Given the description of an element on the screen output the (x, y) to click on. 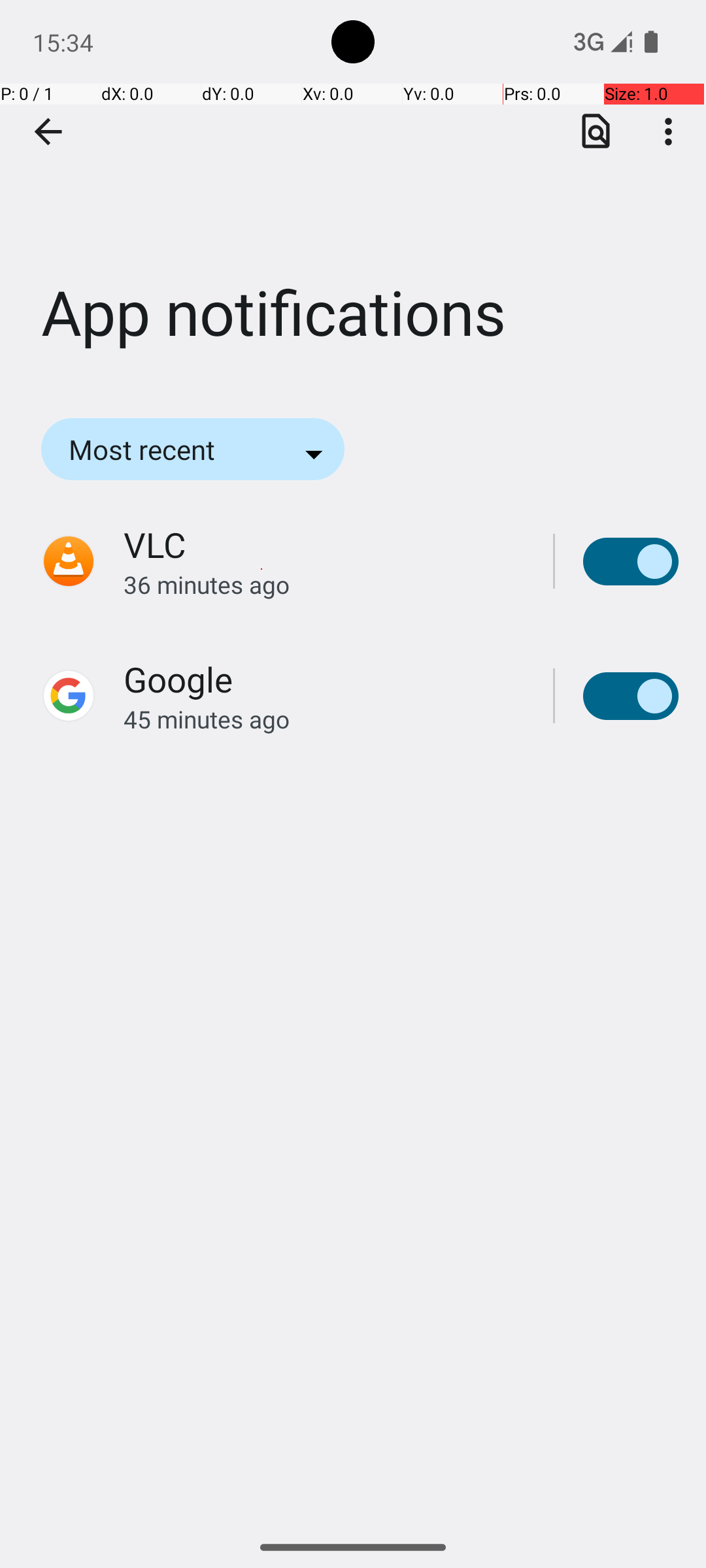
36 minutes ago Element type: android.widget.TextView (324, 584)
45 minutes ago Element type: android.widget.TextView (324, 718)
